Given the description of an element on the screen output the (x, y) to click on. 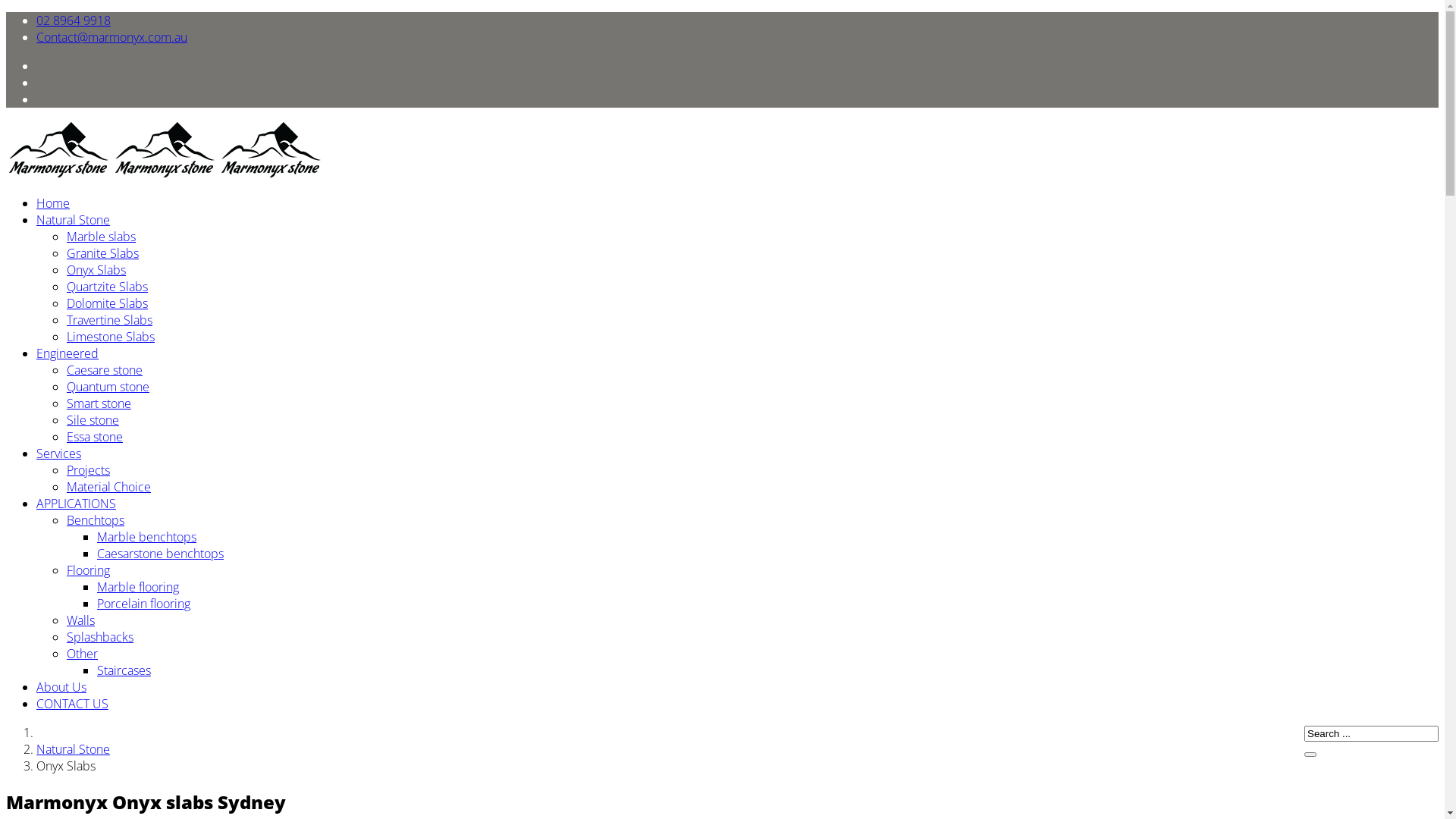
Quartzite Slabs Element type: text (106, 286)
Dolomite Slabs Element type: text (106, 302)
Granite Slabs Element type: text (102, 252)
Marble slabs Element type: text (100, 236)
Marble flooring Element type: text (137, 586)
Quantum stone Element type: text (107, 386)
Staircases Element type: text (123, 670)
Marble benchtops Element type: text (146, 536)
Walls Element type: text (80, 619)
Natural Stone Element type: text (72, 219)
Caesarstone benchtops Element type: text (160, 553)
Sile stone Element type: text (92, 419)
Services Element type: text (58, 453)
Projects Element type: text (87, 469)
Essa stone Element type: text (94, 436)
Other Element type: text (81, 653)
Search Element type: text (1310, 754)
Material Choice Element type: text (108, 486)
Porcelain flooring Element type: text (143, 603)
Natural Stone Element type: text (72, 748)
APPLICATIONS Element type: text (76, 503)
Smart stone Element type: text (98, 403)
Onyx Slabs Element type: text (95, 269)
Caesare stone Element type: text (104, 369)
Limestone Slabs Element type: text (110, 336)
About Us Element type: text (61, 686)
Benchtops Element type: text (95, 519)
Engineered Element type: text (67, 353)
Flooring Element type: text (87, 569)
Splashbacks Element type: text (99, 636)
02 8964 9918 Element type: text (73, 20)
CONTACT US Element type: text (72, 703)
Home Element type: text (52, 202)
Contact@marmonyx.com.au Element type: text (111, 36)
Travertine Slabs Element type: text (109, 319)
